Given the description of an element on the screen output the (x, y) to click on. 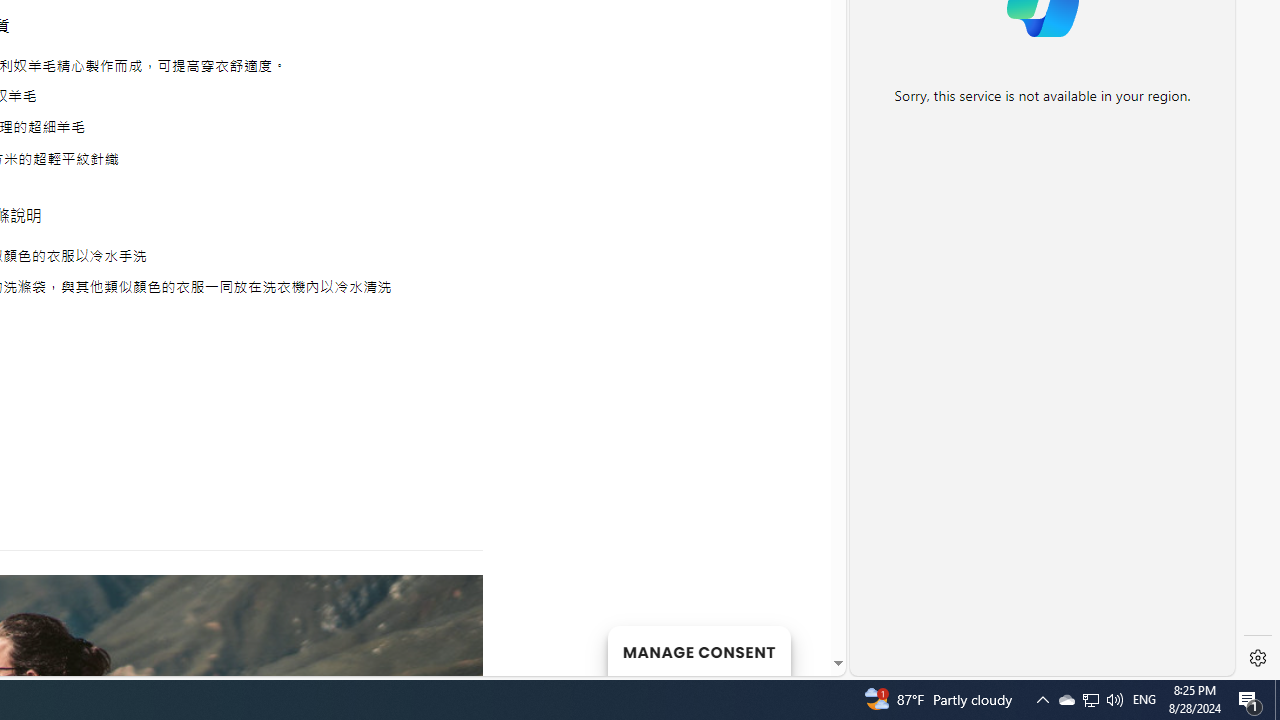
Settings (1258, 658)
MANAGE CONSENT (698, 650)
